Given the description of an element on the screen output the (x, y) to click on. 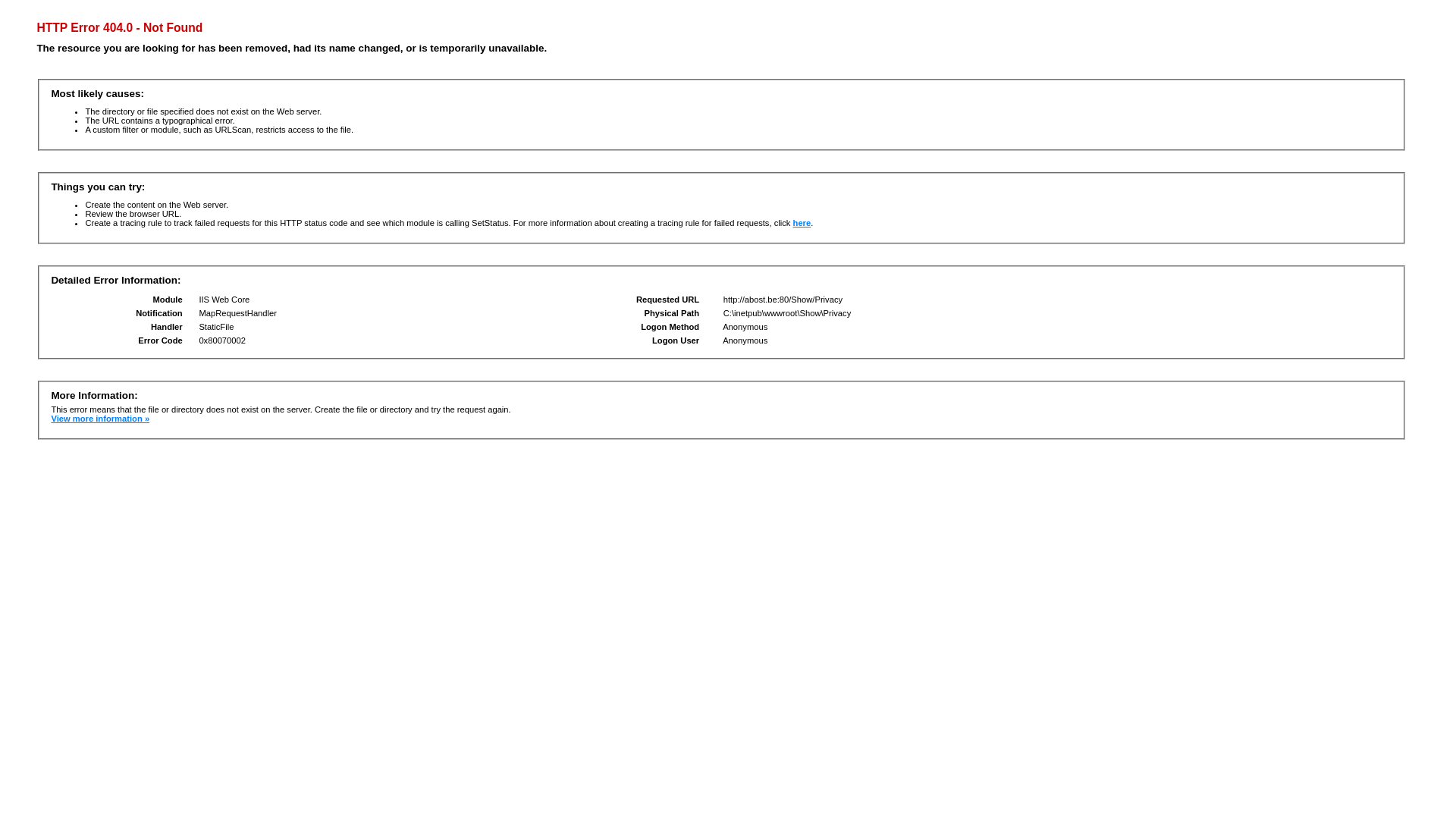
here Element type: text (802, 222)
